Given the description of an element on the screen output the (x, y) to click on. 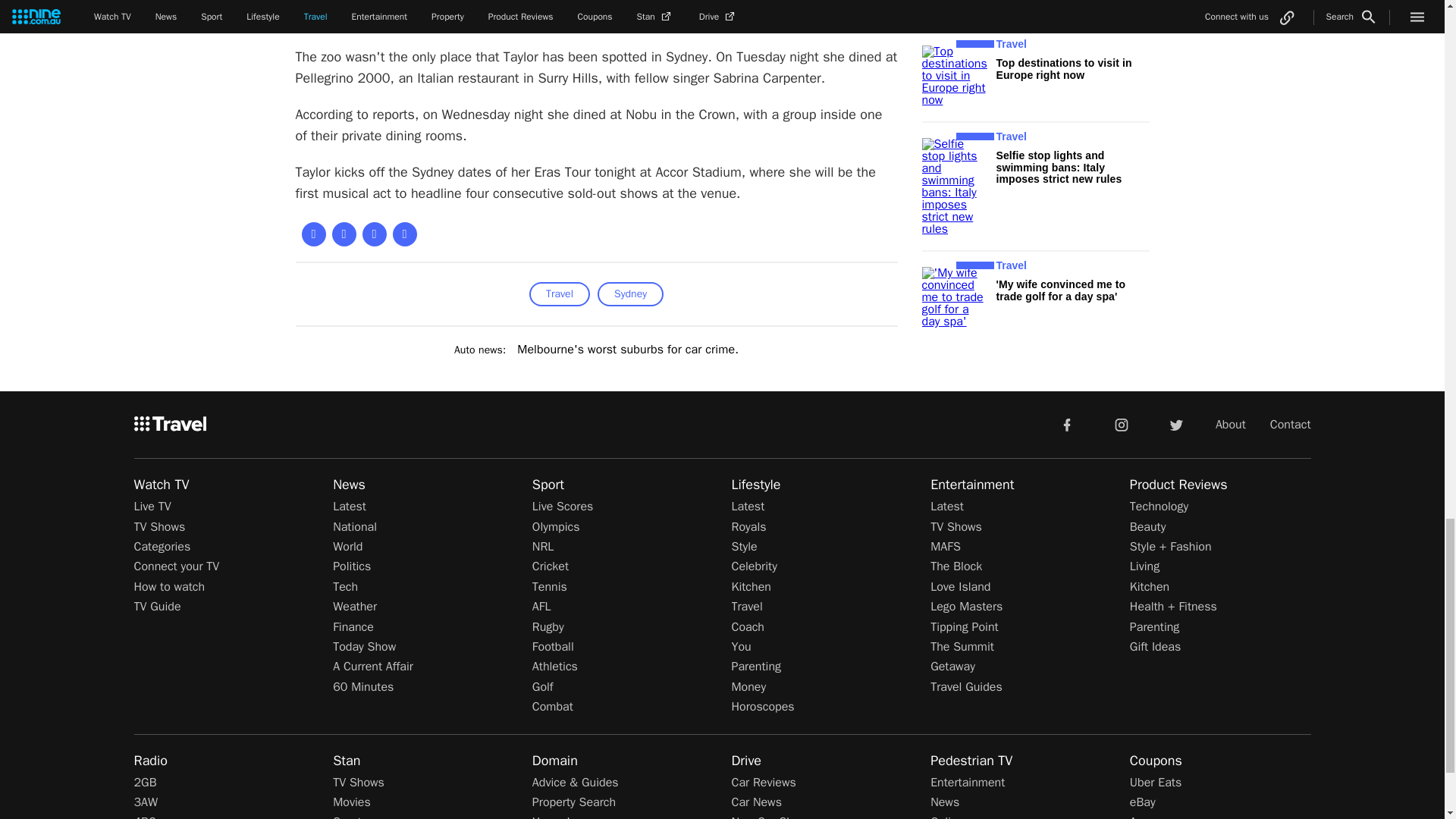
instagram (1121, 423)
facebook (1066, 423)
twitter (1175, 423)
